Given the description of an element on the screen output the (x, y) to click on. 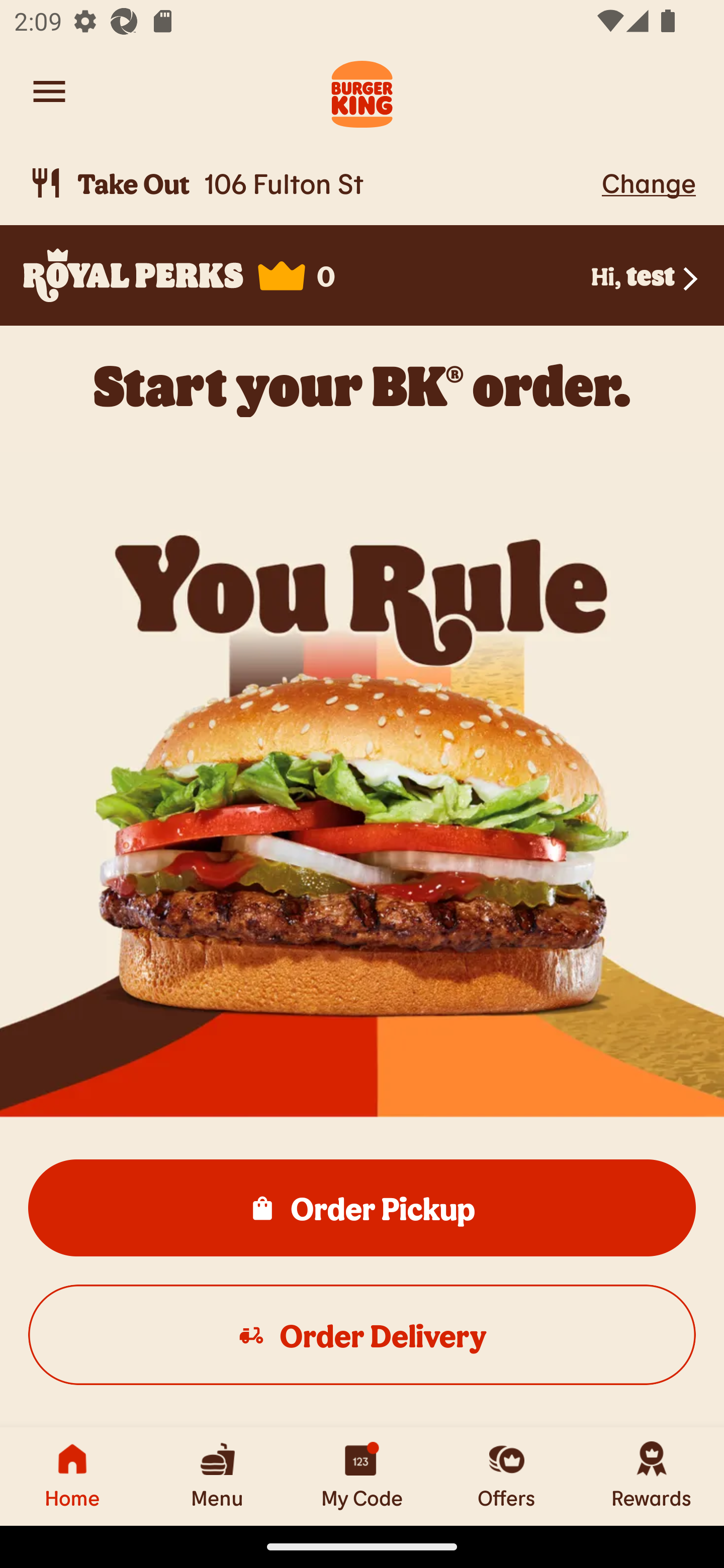
Burger King Logo. Navigate to Home (362, 91)
Navigate to account menu  (49, 91)
Take Out, 106 Fulton St  Take Out 106 Fulton St (311, 183)
Change (648, 182)
Start your BK® order. (361, 385)
, Order Pickup  Order Pickup (361, 1206)
, Order Delivery  Order Delivery (361, 1334)
Home (72, 1475)
Menu (216, 1475)
My Code (361, 1475)
Offers (506, 1475)
Rewards (651, 1475)
